Given the description of an element on the screen output the (x, y) to click on. 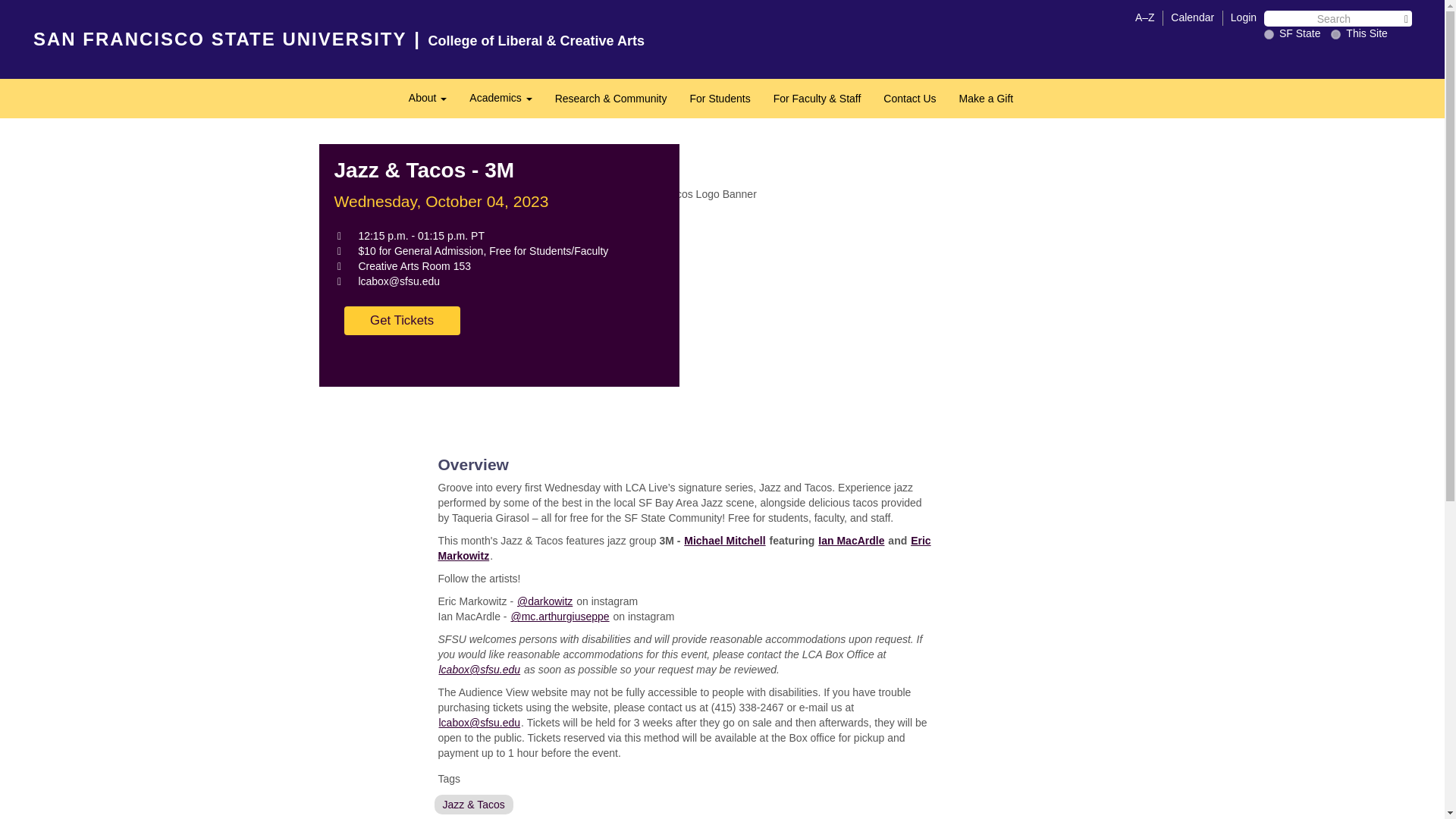
Michael Mitchell (723, 540)
Ian MacArdle (850, 540)
Eric Markowitz (684, 547)
local (1335, 34)
Contact Us (909, 98)
Search SF State (1337, 25)
For Students (719, 98)
global (1268, 34)
Login (1243, 16)
